Given the description of an element on the screen output the (x, y) to click on. 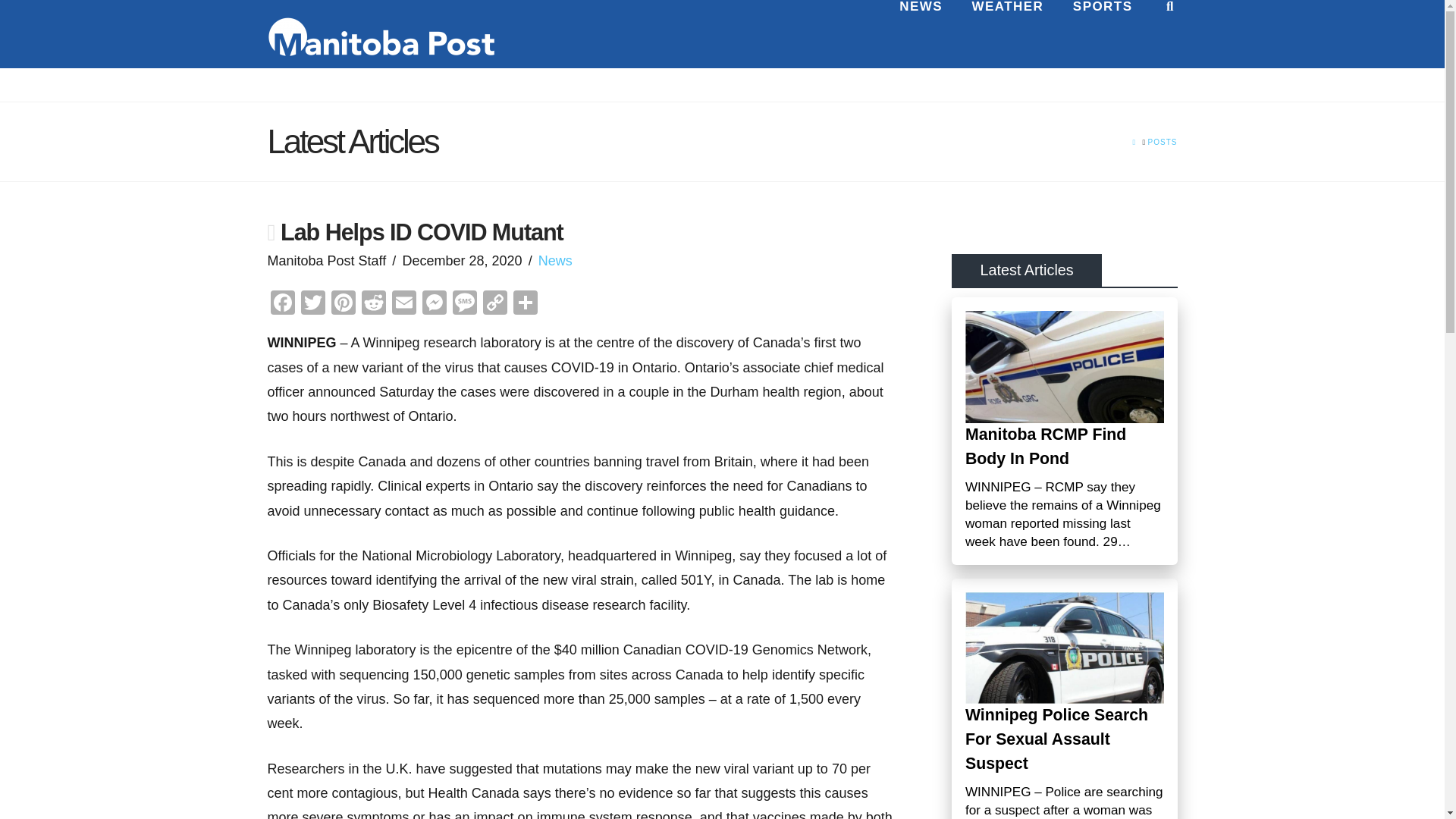
Copy Link (494, 304)
POSTS (1162, 142)
Share (524, 304)
Email (403, 304)
WEATHER (1007, 33)
Twitter (312, 304)
Pinterest (342, 304)
Copy Link (494, 304)
Pinterest (342, 304)
Message (463, 304)
Messenger (433, 304)
Twitter (312, 304)
Reddit (373, 304)
Reddit (373, 304)
SPORTS (1102, 33)
